Given the description of an element on the screen output the (x, y) to click on. 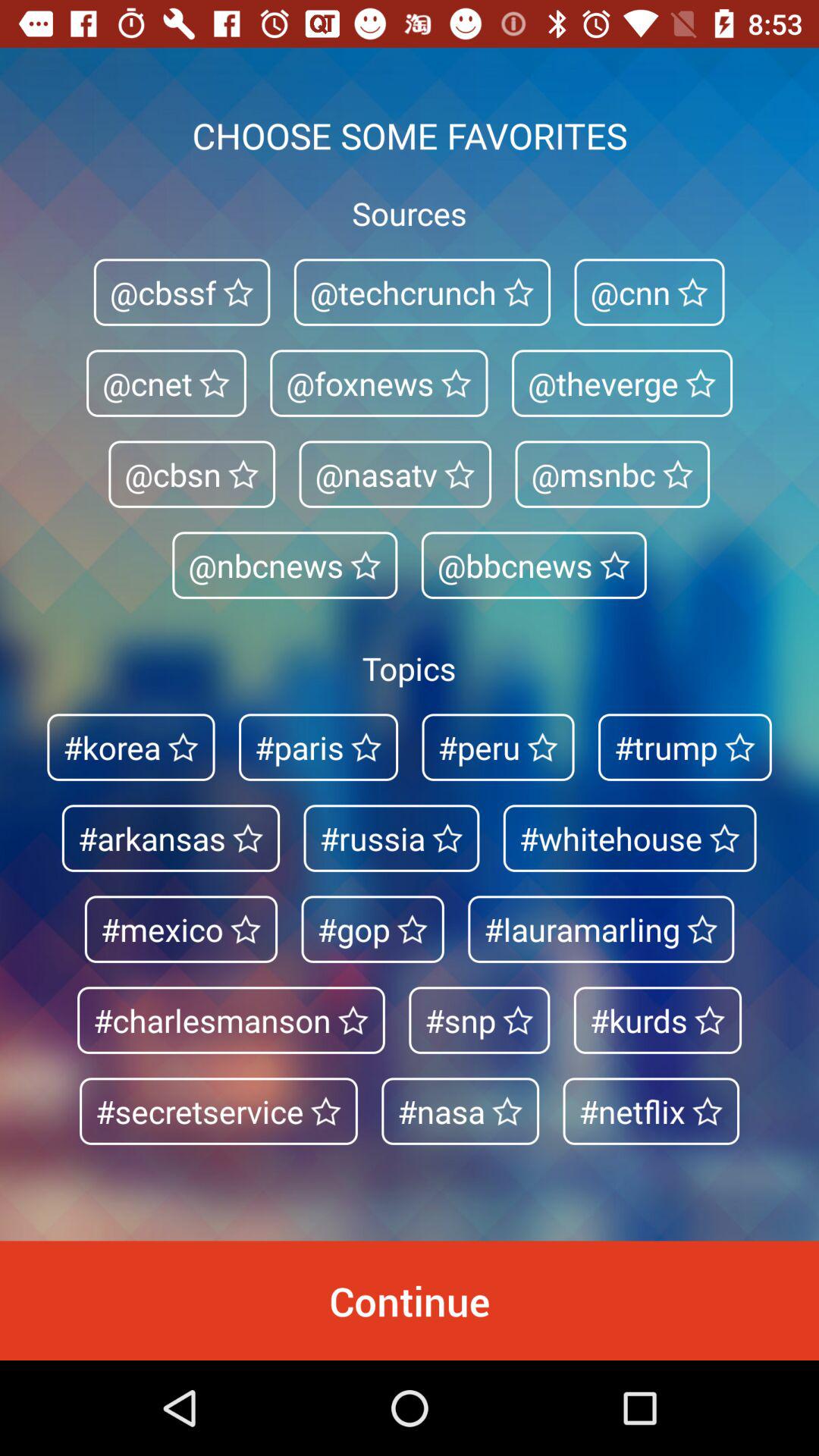
turn off item below the #secretservice item (409, 1300)
